Given the description of an element on the screen output the (x, y) to click on. 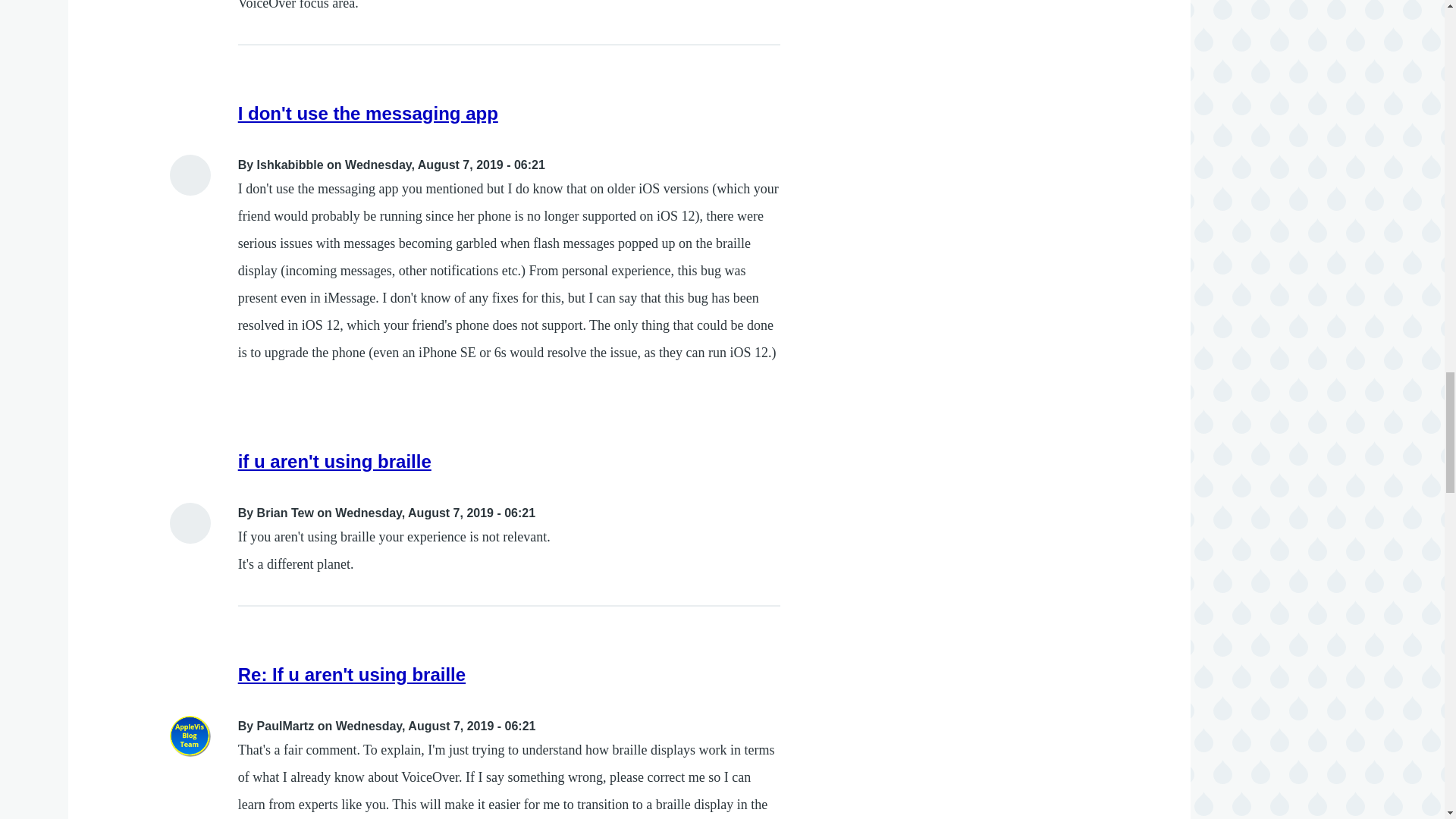
Re: If u aren't using braille (351, 674)
I don't use the messaging app (367, 113)
if u aren't using braille (334, 461)
